Given the description of an element on the screen output the (x, y) to click on. 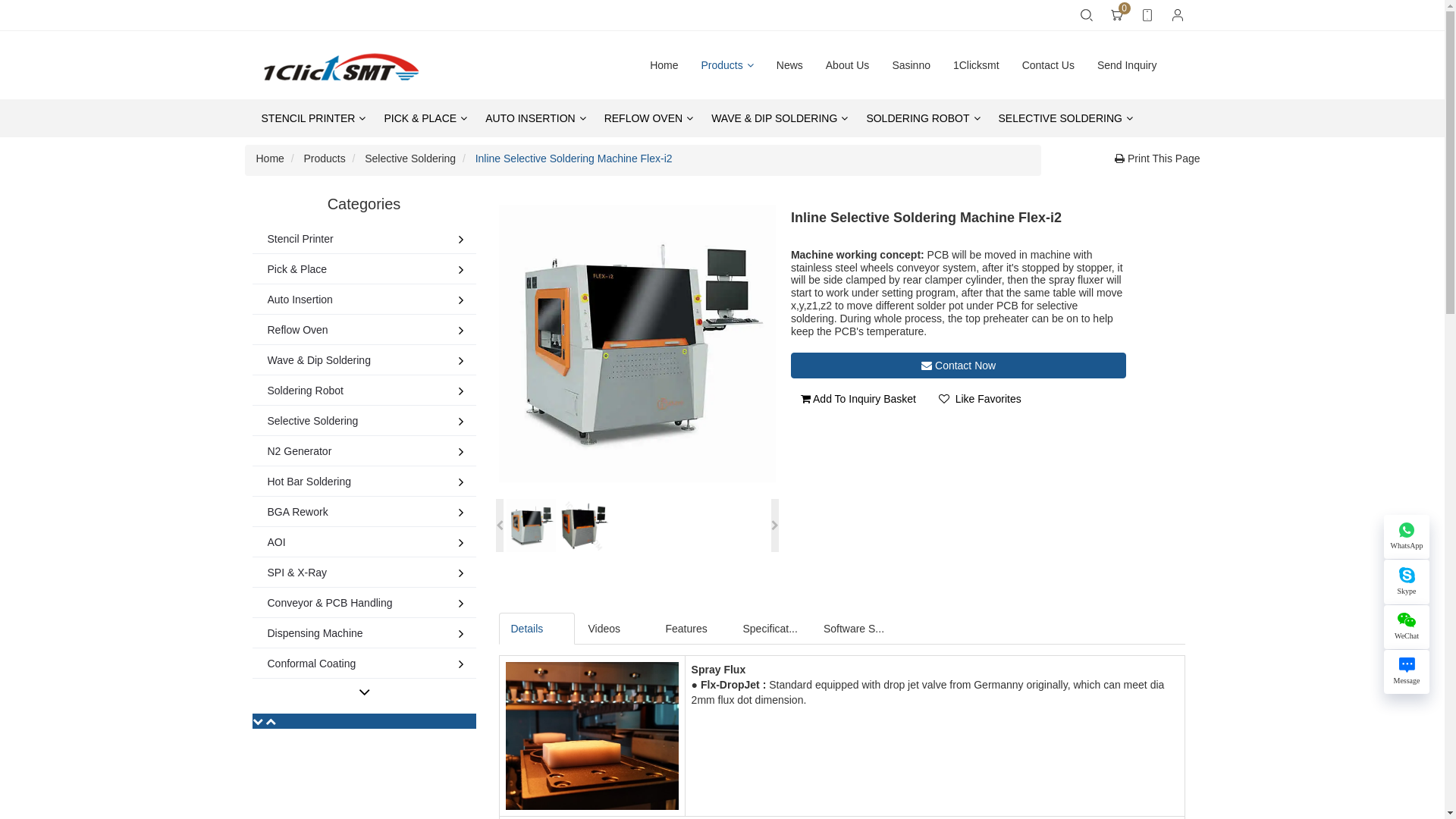
Print This Page Element type: text (1156, 158)
Contact Us Element type: text (1047, 65)
Dispensing Machine Element type: text (335, 632)
Pick & Place Element type: text (335, 268)
SOLDERING ROBOT Element type: text (922, 118)
PICK & PLACE Element type: text (425, 118)
AOI Element type: text (335, 541)
Soldering Robot Element type: text (335, 389)
About Us Element type: text (847, 65)
N2 Generator Element type: text (335, 450)
 Add To Inquiry Basket Element type: text (857, 398)
Conveyor & PCB Handling Element type: text (335, 602)
Conformal Coating Element type: text (335, 662)
REFLOW OVEN Element type: text (648, 118)
Selective Soldering Element type: text (409, 158)
Hot Bar Soldering Element type: text (335, 480)
Videos Element type: text (614, 628)
Features Element type: text (691, 628)
Auto Insertion Element type: text (335, 298)
Register now/Login Element type: hover (1176, 15)
Send Inquiry Element type: text (1126, 65)
Reflow Oven Element type: text (335, 329)
Inline Selective Soldering Machine Flex-i2 Element type: text (573, 158)
Software S... Element type: text (853, 628)
1Clicksmt Element type: text (975, 65)
SPI & X-Ray Element type: text (335, 571)
Search Element type: hover (1085, 15)
BGA Rework Element type: text (335, 511)
Scan qrcode to view mobile website Element type: hover (1146, 15)
AUTO INSERTION Element type: text (535, 118)
News Element type: text (789, 65)
Specificat... Element type: text (770, 628)
Details Element type: text (536, 628)
Sasinno Element type: text (910, 65)
 Contact Now Element type: text (958, 365)
STENCIL PRINTER Element type: text (312, 118)
Products Element type: text (324, 158)
Home Element type: text (663, 65)
WAVE & DIP SOLDERING Element type: text (779, 118)
SELECTIVE SOLDERING Element type: text (1065, 118)
Spray Flux Element type: hover (591, 735)
Wave & Dip Soldering Element type: text (335, 359)
Products Element type: text (727, 65)
Stencil Printer Element type: text (335, 238)
Selective Soldering Element type: text (335, 420)
  Like Favorites Element type: text (979, 398)
Home Element type: text (270, 158)
